Given the description of an element on the screen output the (x, y) to click on. 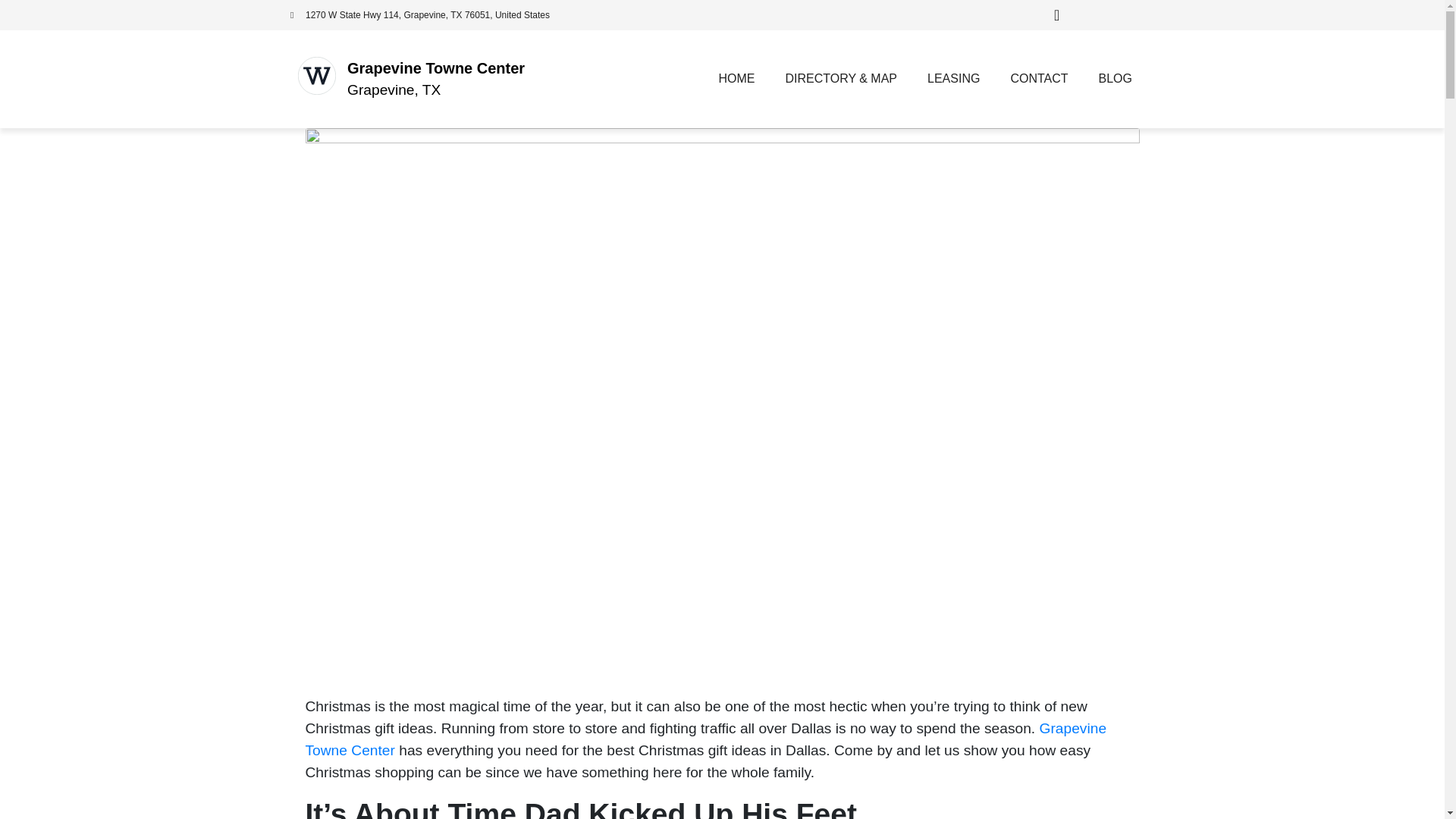
BLOG (1115, 78)
HOME (736, 78)
Grapevine Towne Center (705, 739)
Grapevine Towne Center (435, 67)
CONTACT (1038, 78)
LEASING (953, 78)
